Given the description of an element on the screen output the (x, y) to click on. 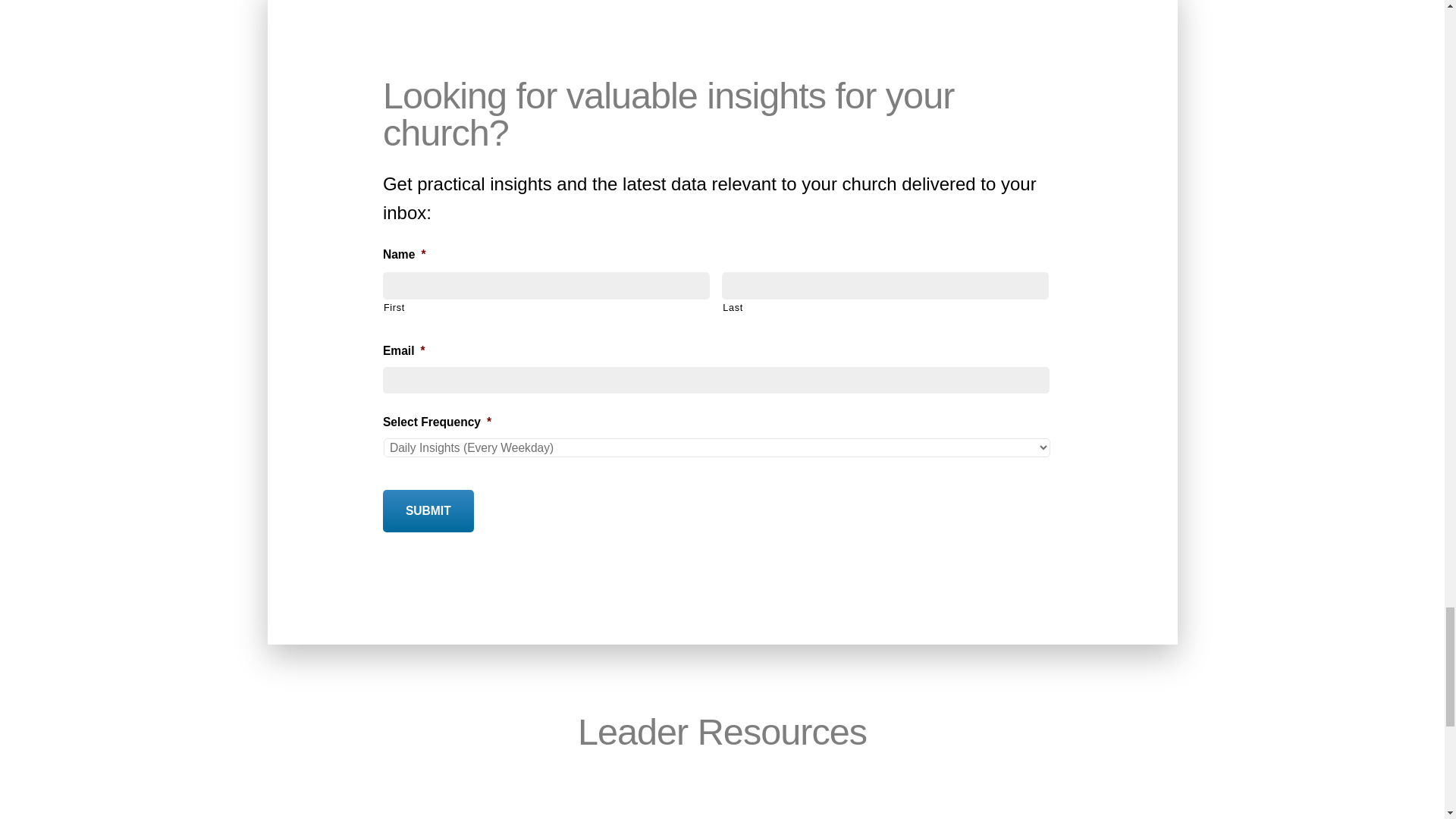
Submit (428, 510)
